Given the description of an element on the screen output the (x, y) to click on. 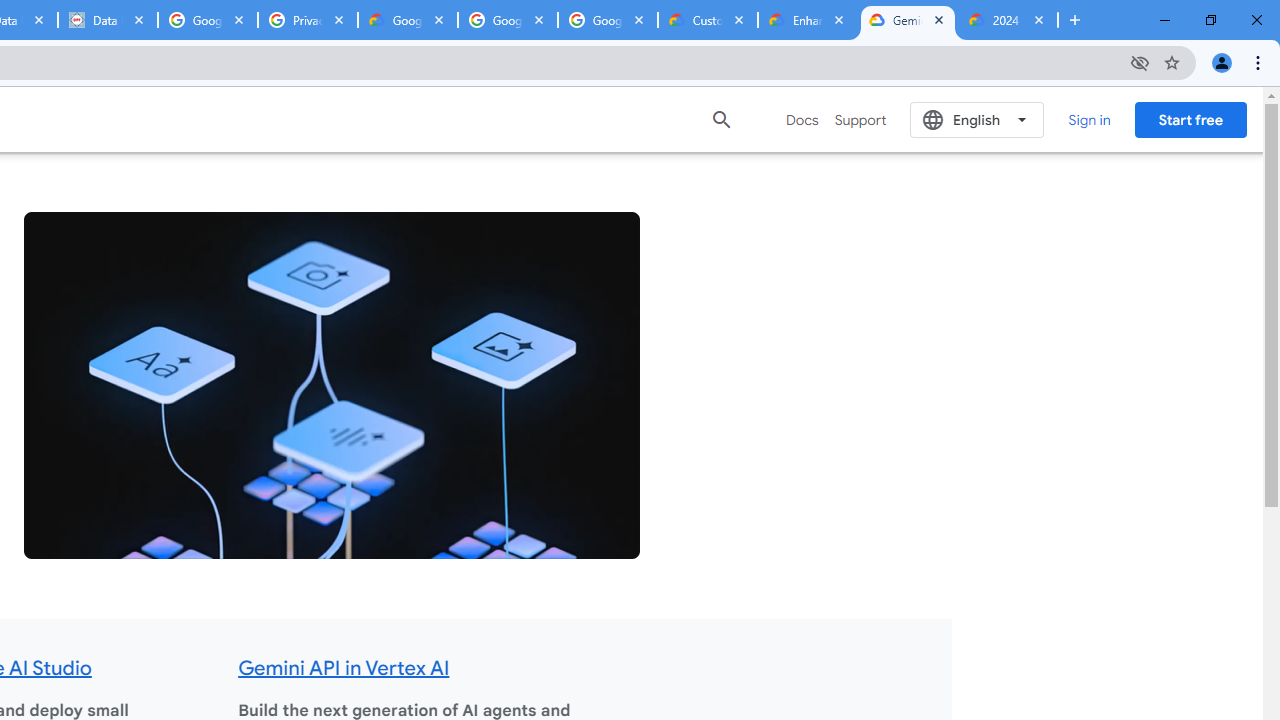
Gemini for Business and Developers | Google Cloud (907, 20)
Google Cloud Terms Directory | Google Cloud (408, 20)
Google Workspace - Specific Terms (607, 20)
Gemini API in Vertex AI (344, 668)
Start free (1190, 119)
Docs (802, 119)
Data Privacy Framework (107, 20)
